Given the description of an element on the screen output the (x, y) to click on. 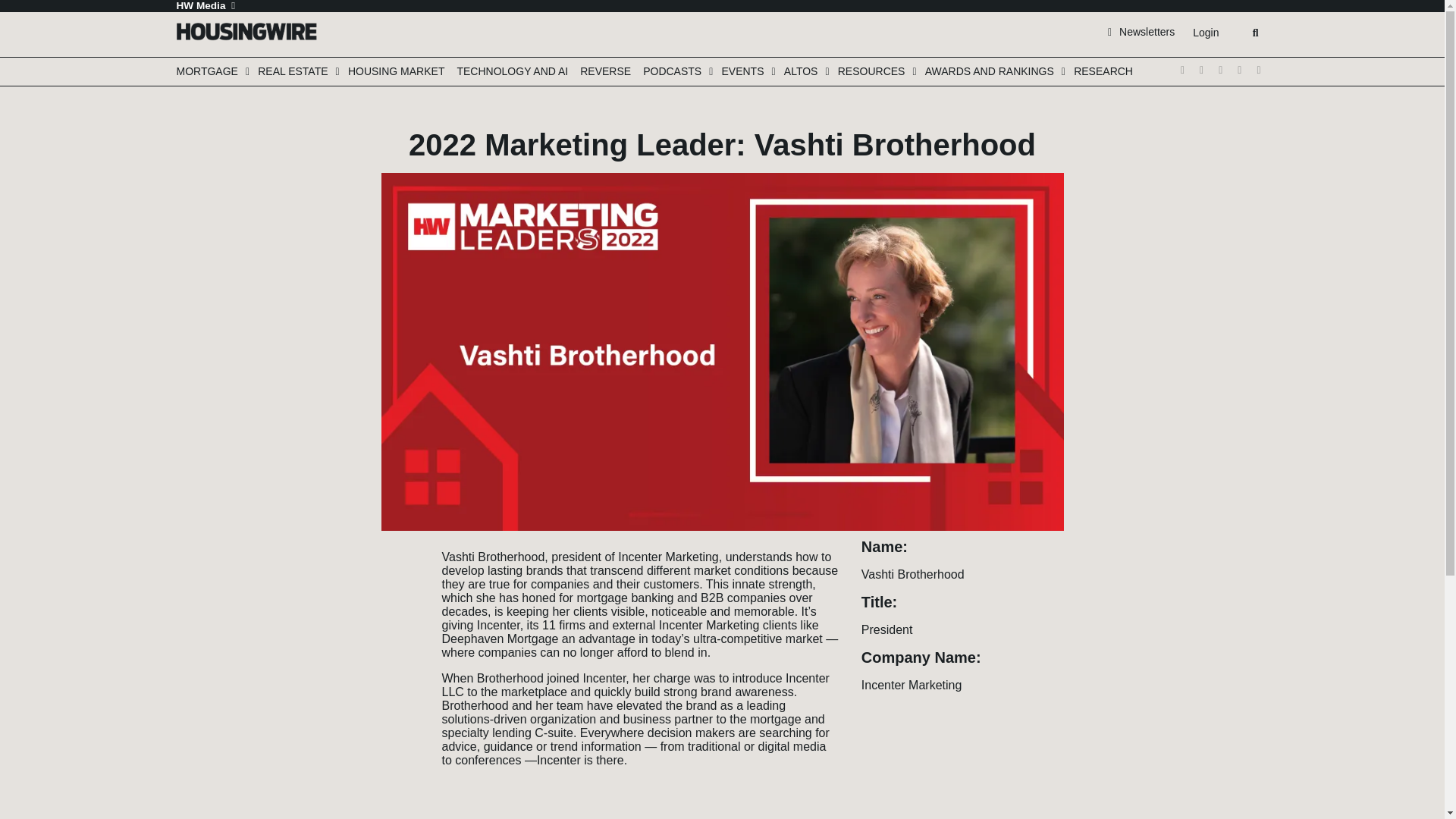
Click to share on Twitter (398, 552)
Click to copy link (398, 643)
Newsletters (1141, 31)
Login (1205, 32)
Click to email a link to a friend (398, 620)
Click to share on LinkedIn (398, 597)
Click to share on Facebook (398, 575)
